Given the description of an element on the screen output the (x, y) to click on. 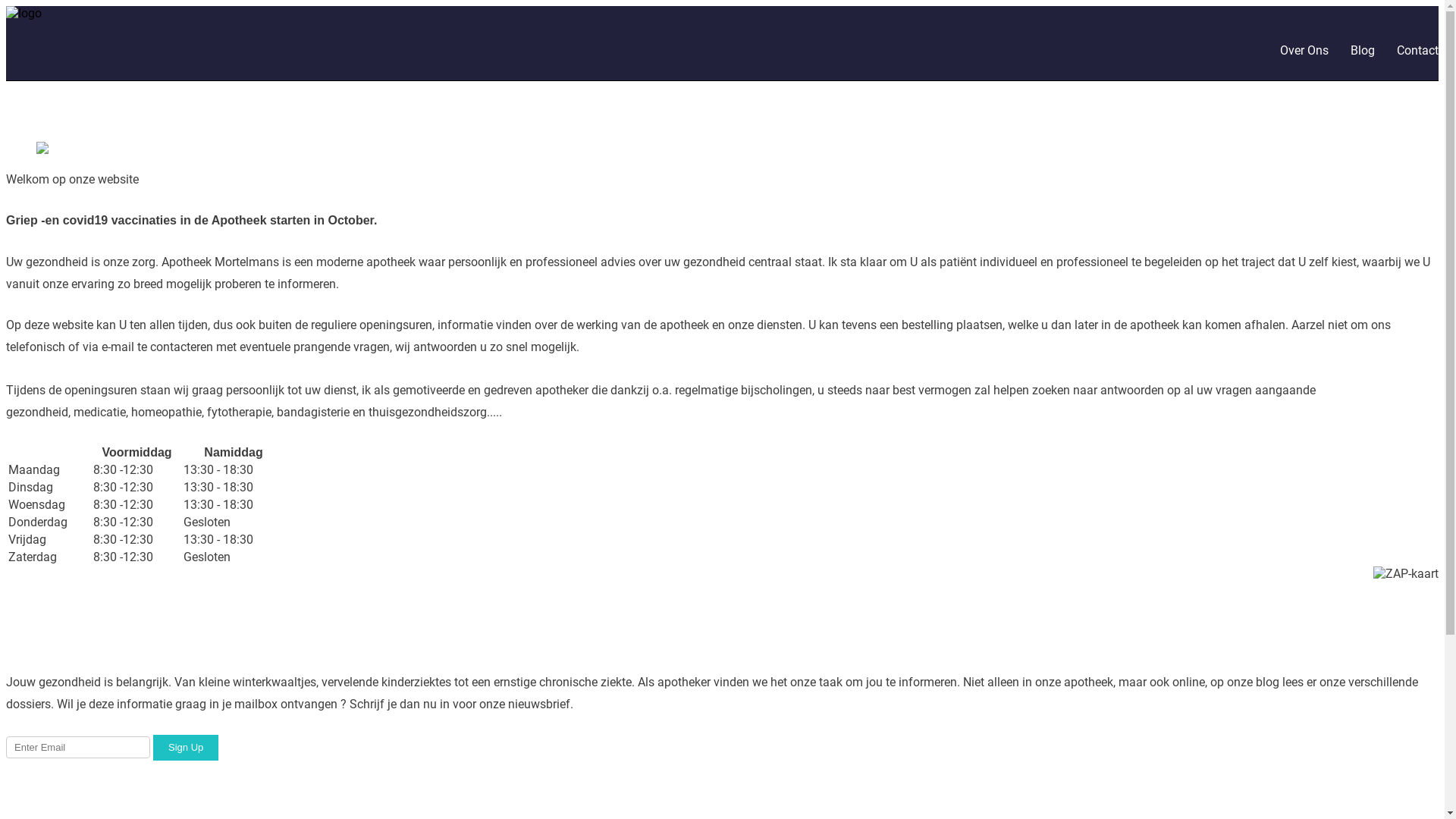
Over Ons Element type: text (1304, 50)
Sign Up Element type: text (185, 747)
Contact Element type: text (1417, 50)
Blog Element type: text (1362, 50)
